Given the description of an element on the screen output the (x, y) to click on. 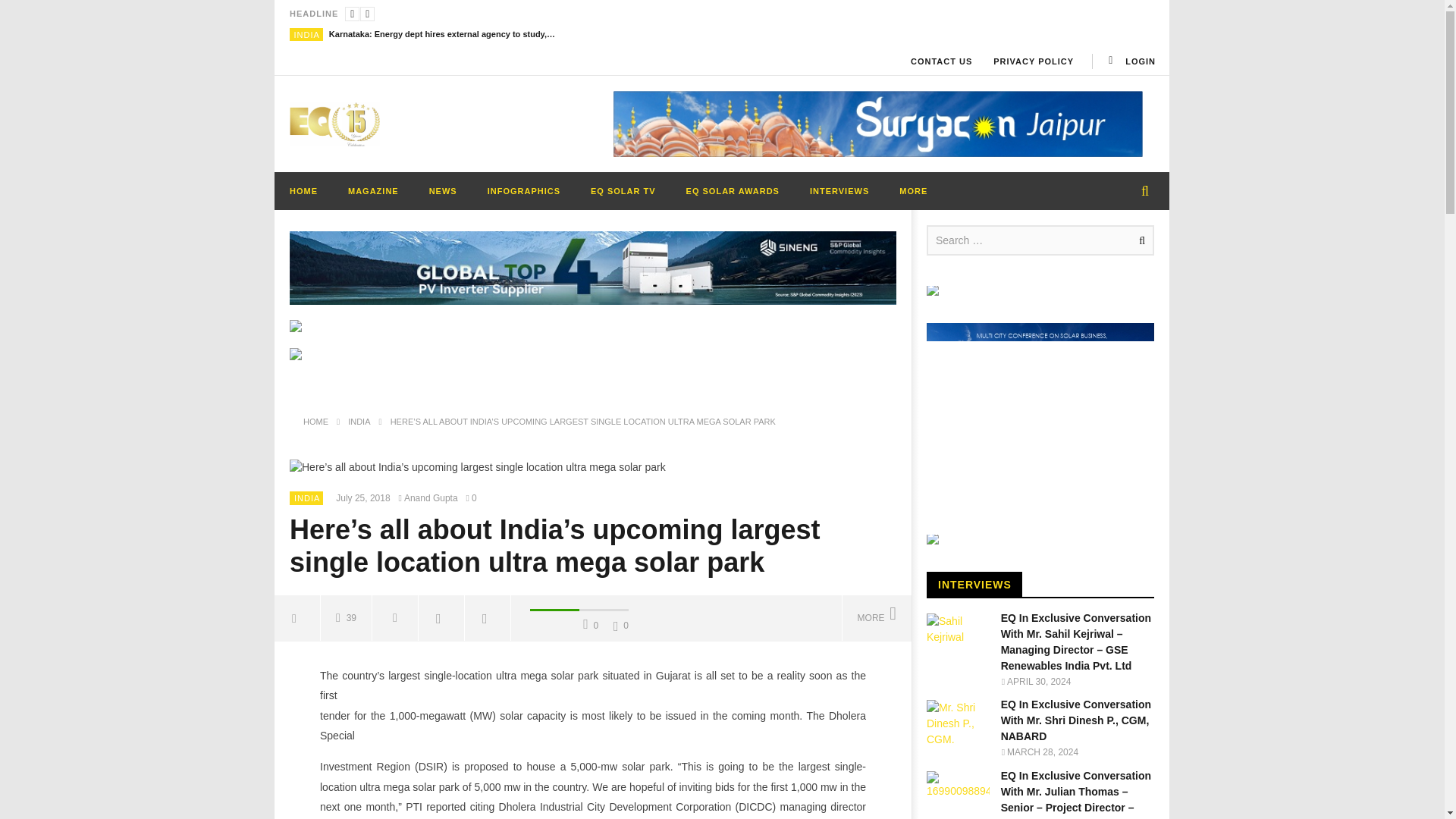
MAGAZINE (373, 190)
LOGIN (1130, 61)
NEWS (442, 190)
HOME (304, 190)
View all posts in India (307, 34)
Search (1139, 239)
View all posts in India (307, 497)
PRIVACY POLICY (1033, 61)
Posts by Anand Gupta (430, 498)
REPORT THIS (395, 617)
share (297, 617)
INDIA (307, 34)
CONTACT US (940, 61)
The Leading Solar Magazine In India (334, 123)
Search (1139, 239)
